Given the description of an element on the screen output the (x, y) to click on. 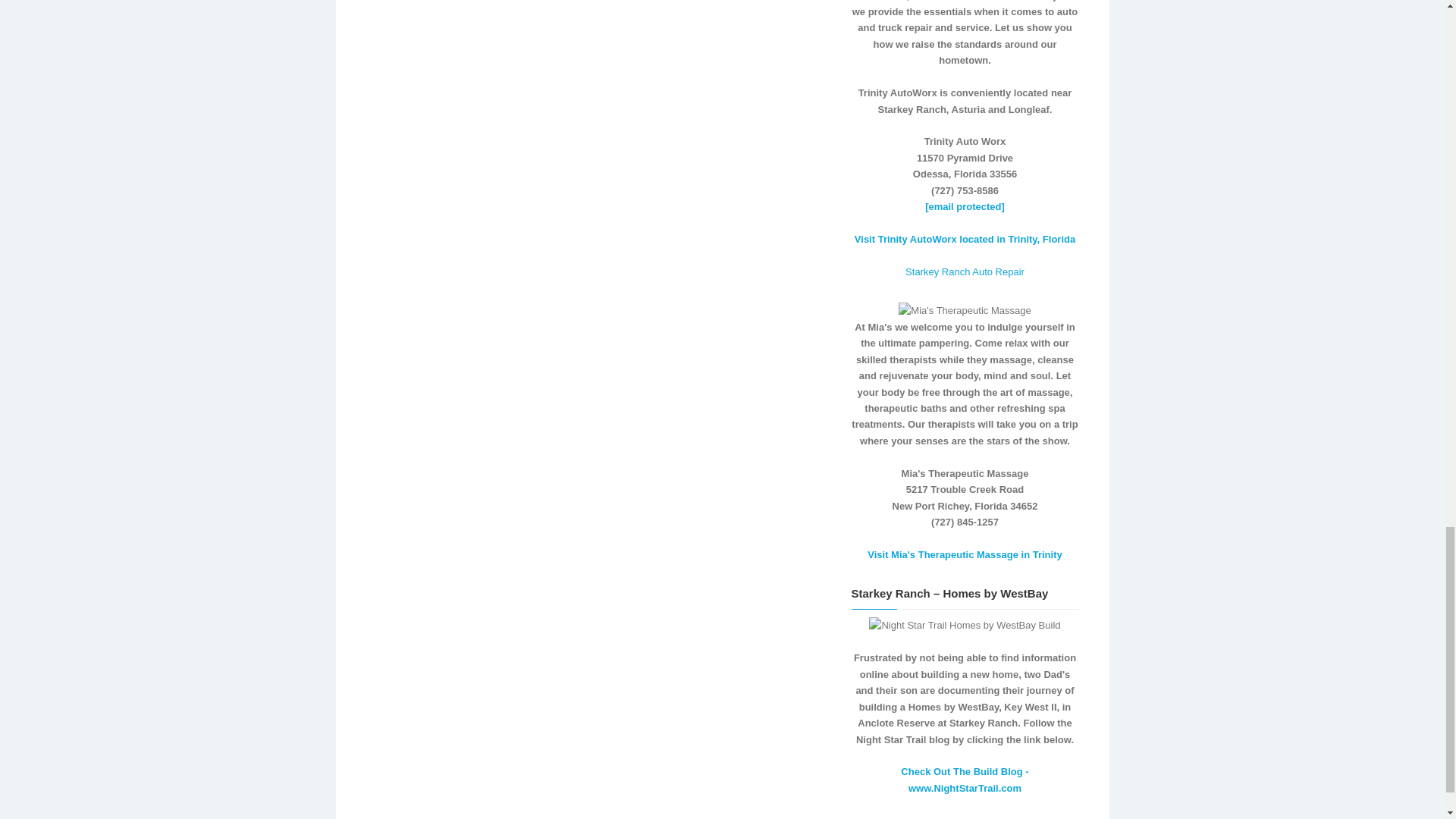
Visit Mia's Therapeutic Massage in Trinity (964, 554)
Starkey Ranch Auto Repair (965, 271)
Check Out The Build Blog - www.NightStarTrail.com (964, 779)
Visit Trinity AutoWorx located in Trinity, Florida (964, 238)
